Given the description of an element on the screen output the (x, y) to click on. 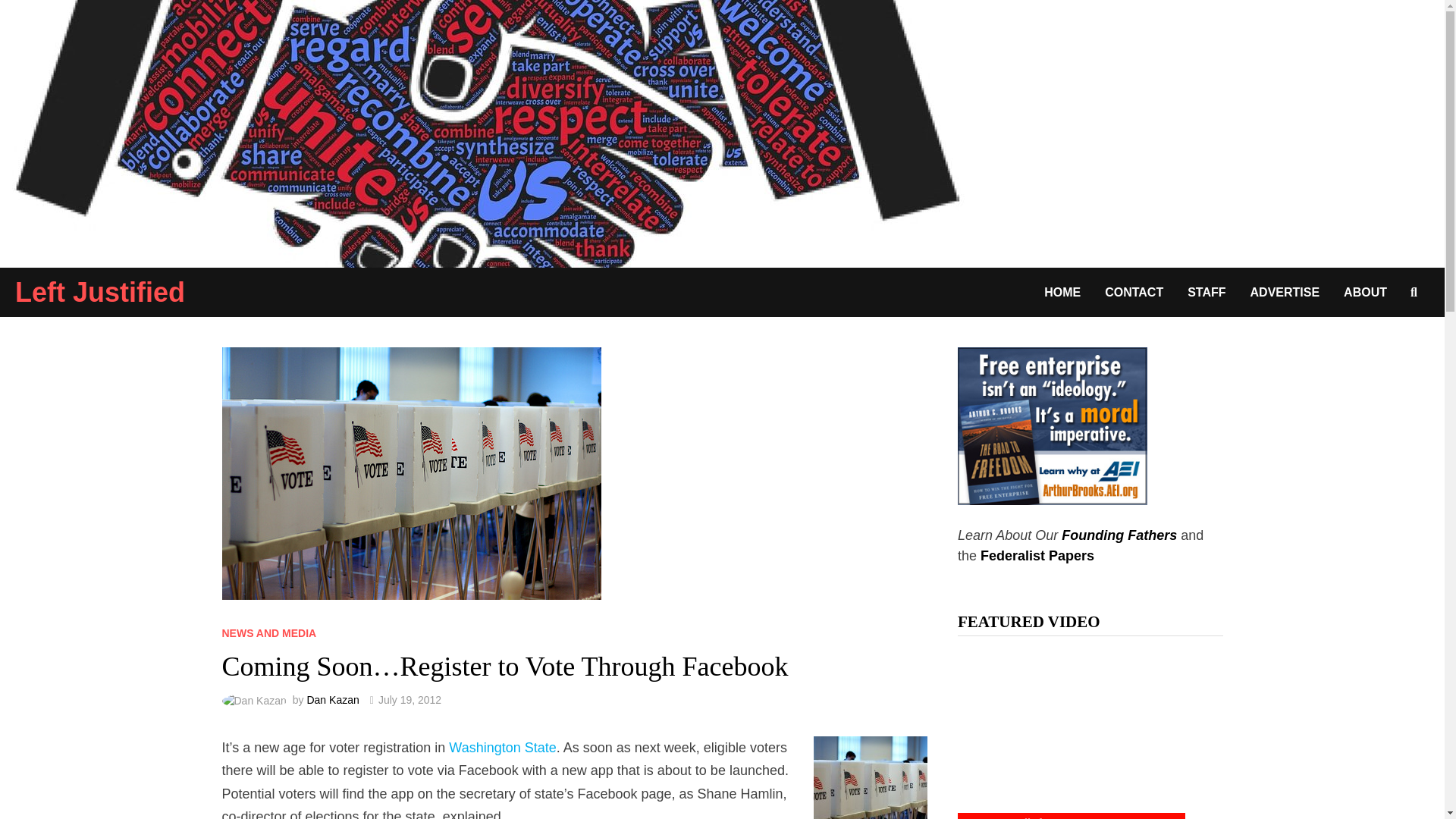
CONTACT (1133, 291)
HOME (1062, 291)
ADVERTISE (1285, 291)
Dan Kazan (331, 699)
Left Justified (485, 132)
Left Justified (99, 291)
NEWS AND MEDIA (268, 633)
ABOUT (1365, 291)
Washington State (502, 747)
July 19, 2012 (409, 699)
STAFF (1205, 291)
Federalist Papers (1036, 555)
voter registration (870, 777)
Founding Fathers (1118, 534)
